Given the description of an element on the screen output the (x, y) to click on. 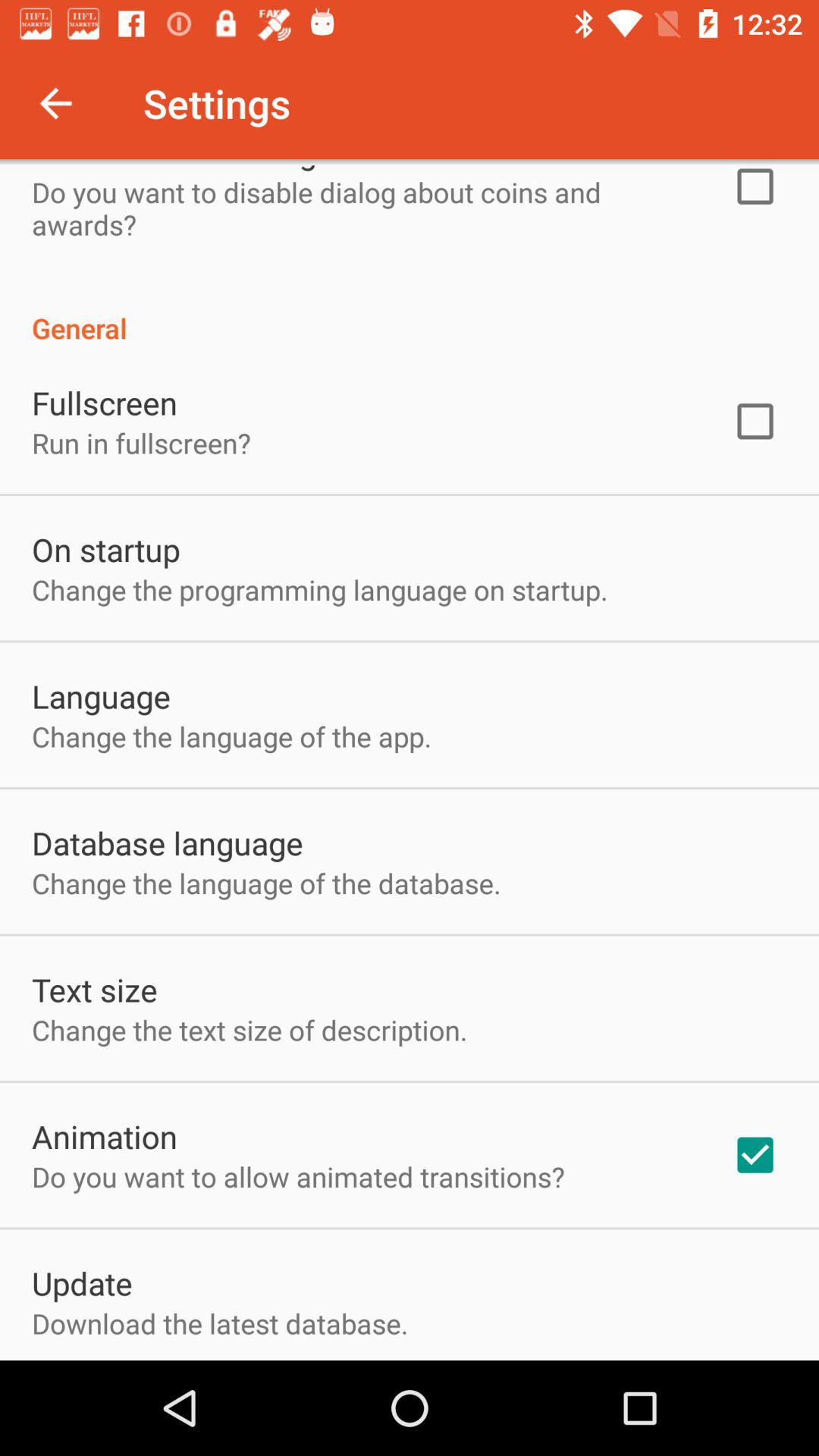
choose the animation icon (104, 1135)
